Given the description of an element on the screen output the (x, y) to click on. 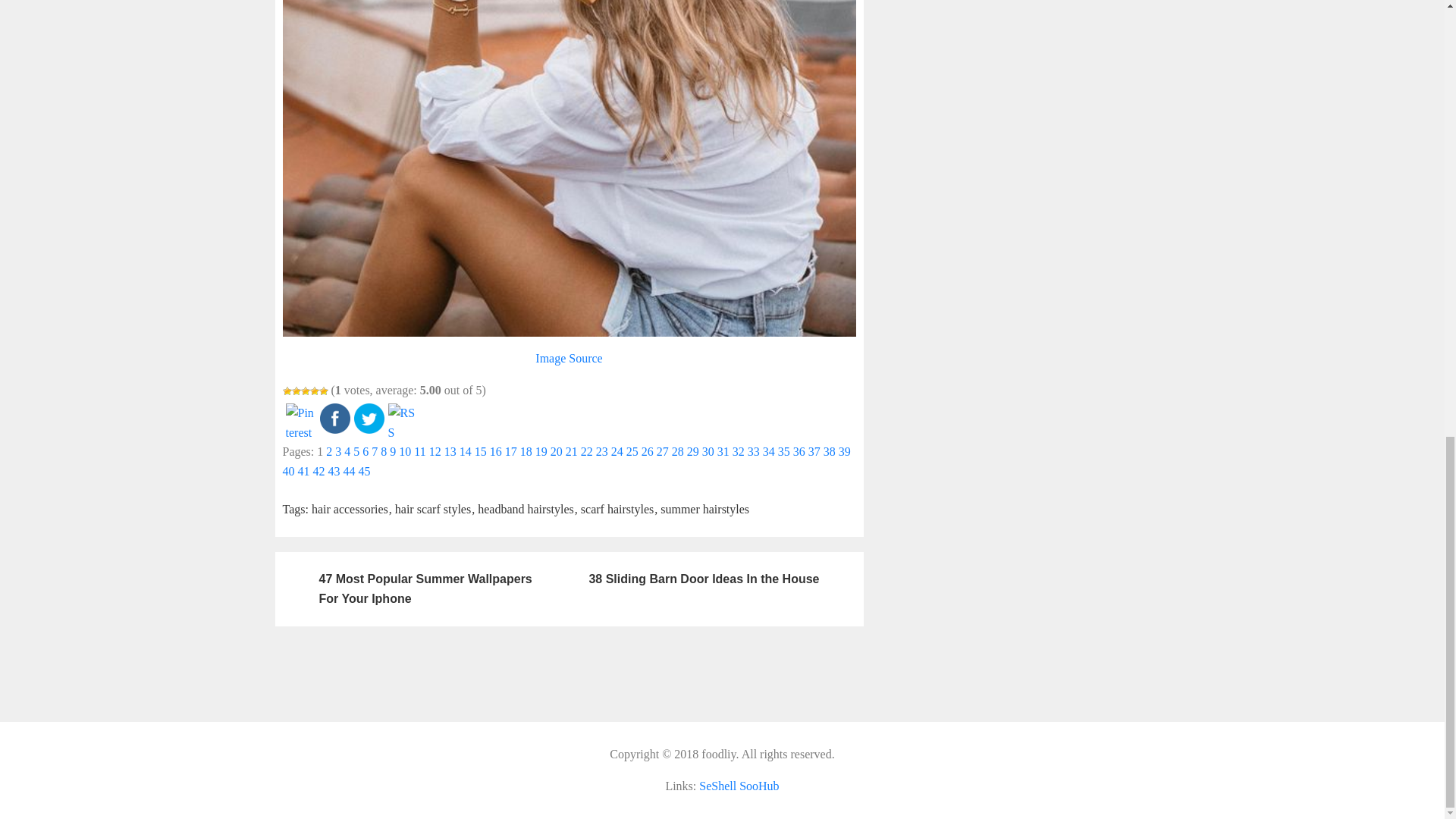
14 (465, 451)
13 (450, 451)
16 (495, 451)
2 Stars (295, 390)
10 (404, 451)
5 Stars (322, 390)
12 (435, 451)
15 (480, 451)
Image Source (568, 358)
